Given the description of an element on the screen output the (x, y) to click on. 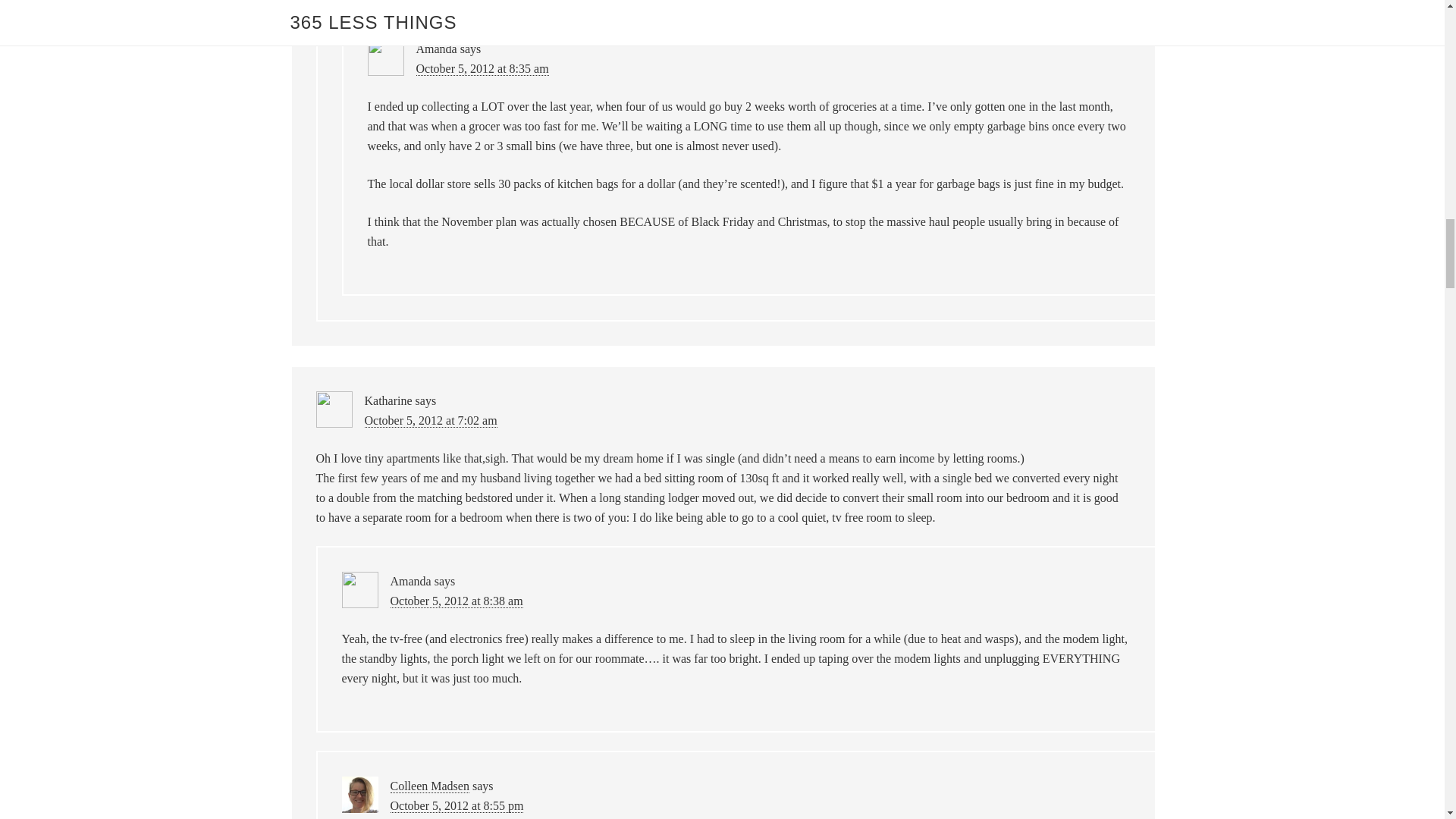
October 5, 2012 at 8:38 am (456, 601)
October 5, 2012 at 7:02 am (430, 420)
October 5, 2012 at 8:55 pm (456, 806)
October 5, 2012 at 8:35 am (481, 69)
Colleen Madsen (429, 786)
